Given the description of an element on the screen output the (x, y) to click on. 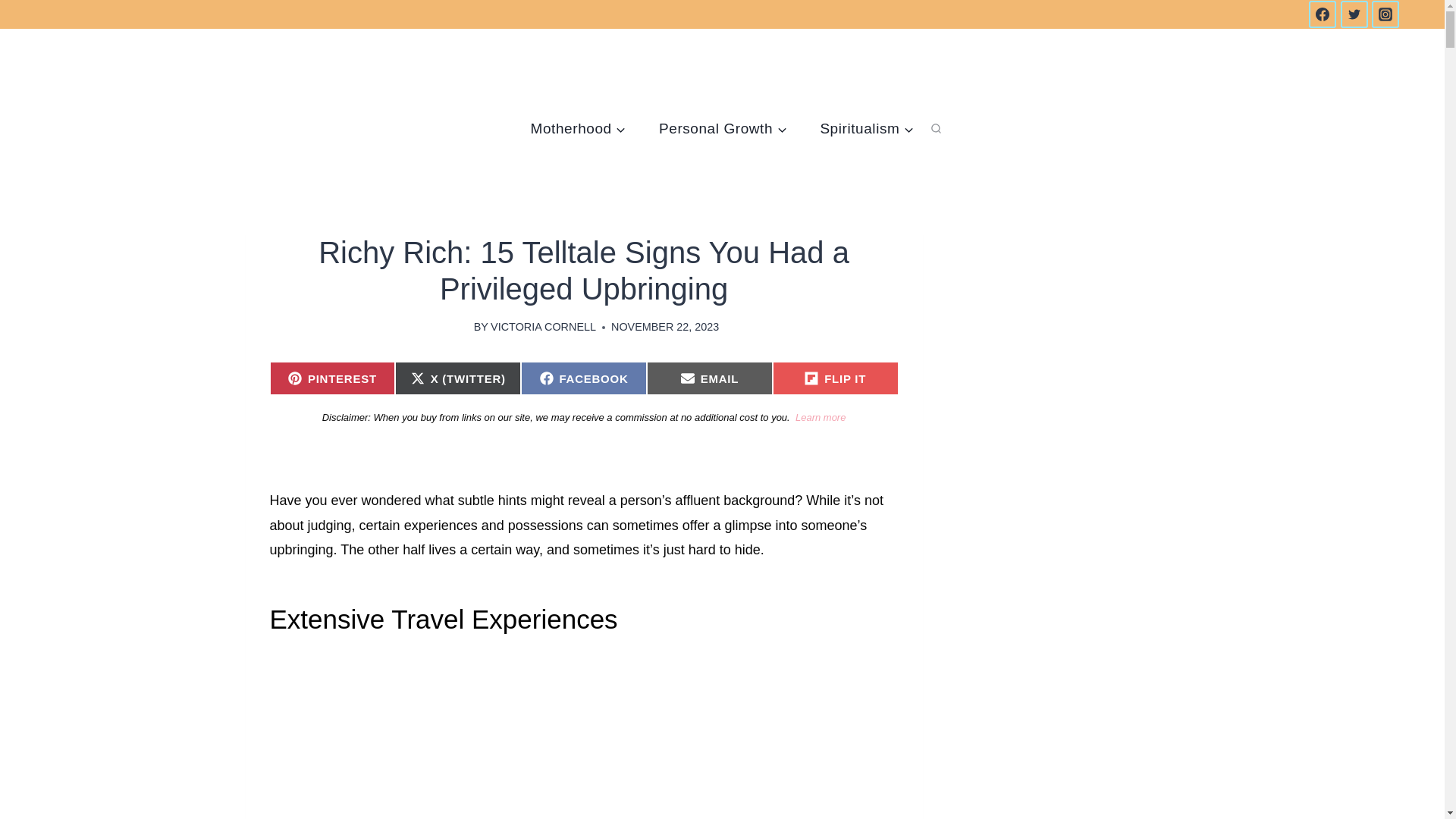
VICTORIA CORNELL (542, 326)
Spiritualism (866, 128)
Personal Growth (722, 128)
Motherhood (577, 128)
